Given the description of an element on the screen output the (x, y) to click on. 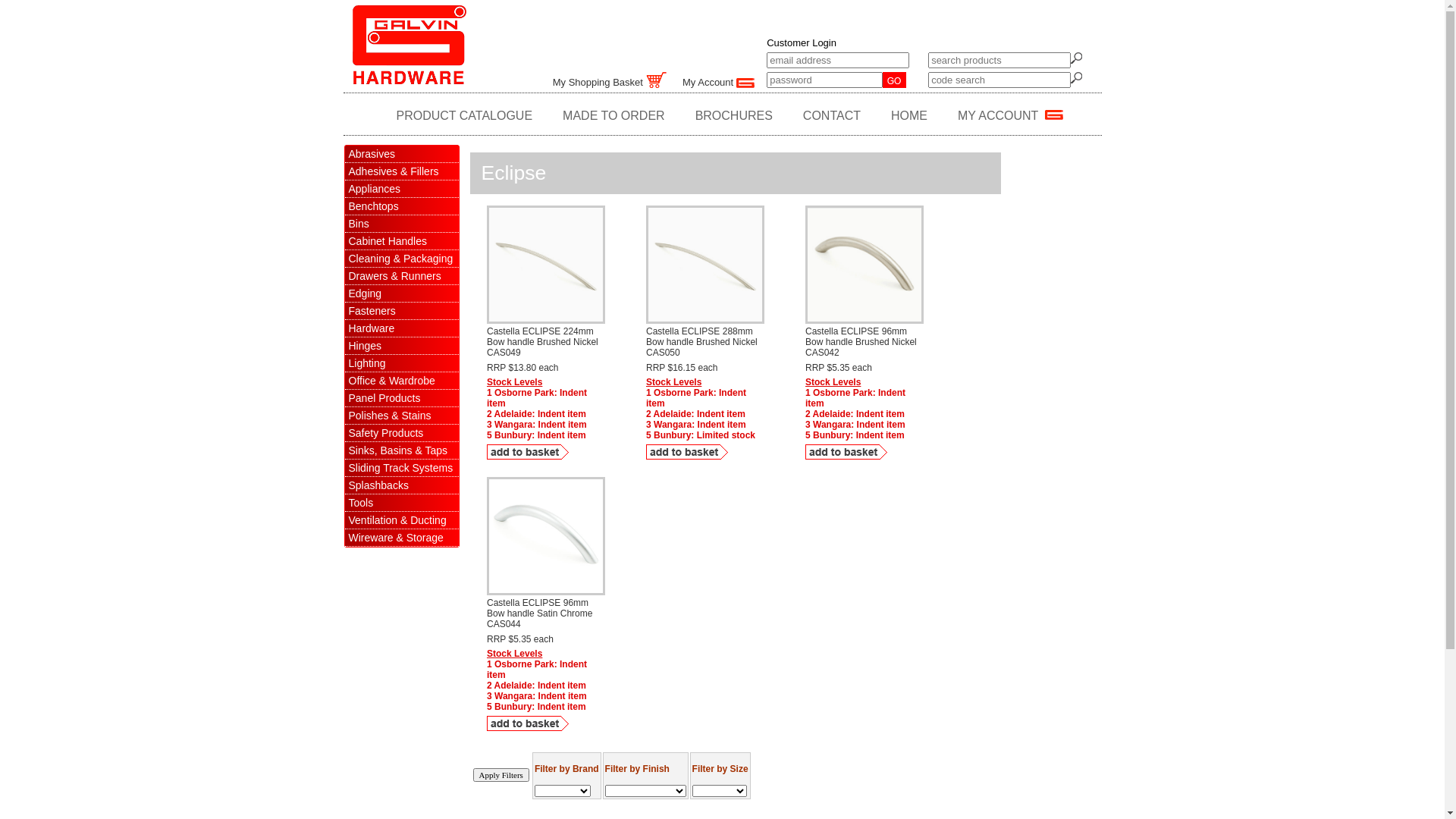
Hardware Element type: text (401, 328)
Splashbacks Element type: text (401, 485)
Safety Products Element type: text (401, 433)
Eclipse Element type: text (513, 172)
Hinges Element type: text (401, 345)
Bins Element type: text (401, 223)
CONTACT Element type: text (831, 115)
MADE TO ORDER Element type: text (613, 115)
Drawers & Runners Element type: text (401, 276)
Wireware & Storage Element type: text (401, 537)
Appliances Element type: text (401, 188)
MY ACCOUNT  Element type: text (1010, 115)
My Shopping Basket Element type: text (609, 81)
Polishes & Stains Element type: text (401, 415)
Edging Element type: text (401, 293)
Ventilation & Ducting Element type: text (401, 520)
My Account Element type: text (718, 81)
Apply Filters Element type: text (501, 774)
Sliding Track Systems Element type: text (401, 467)
Tools Element type: text (401, 502)
BROCHURES Element type: text (734, 115)
Adhesives & Fillers Element type: text (401, 171)
Sinks, Basins & Taps Element type: text (401, 450)
Abrasives Element type: text (401, 154)
Lighting Element type: text (401, 363)
Cleaning & Packaging Element type: text (401, 258)
Cabinet Handles Element type: text (401, 241)
Panel Products Element type: text (401, 398)
Fasteners Element type: text (401, 311)
PRODUCT CATALOGUE Element type: text (464, 115)
HOME Element type: text (908, 115)
Office & Wardrobe Element type: text (401, 380)
Benchtops Element type: text (401, 206)
